Given the description of an element on the screen output the (x, y) to click on. 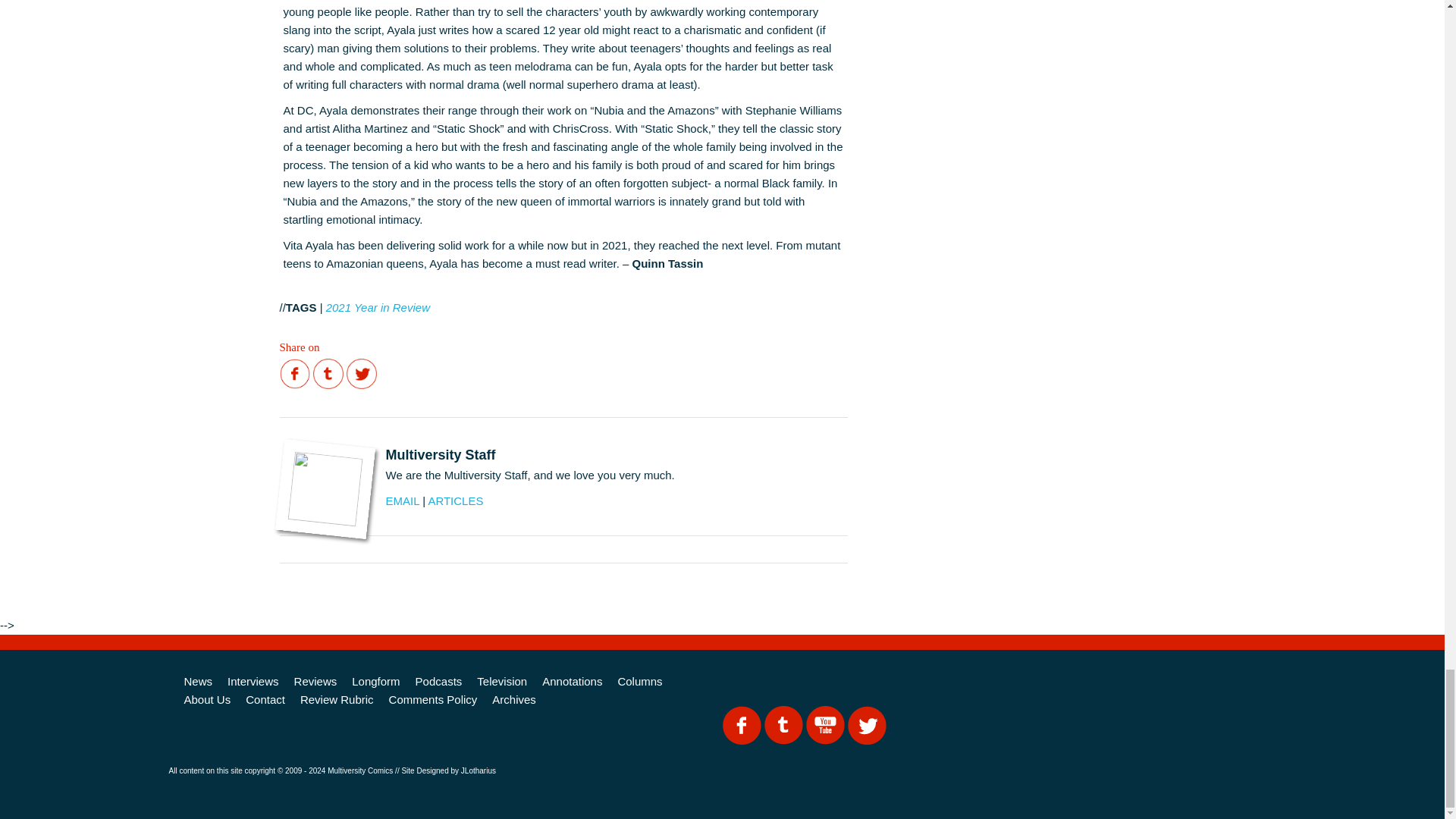
Interviews (253, 681)
News (197, 681)
Longform (375, 681)
ARTICLES (455, 500)
Podcasts (438, 681)
2021 Year in Review (377, 307)
Reviews (315, 681)
EMAIL (402, 500)
